Given the description of an element on the screen output the (x, y) to click on. 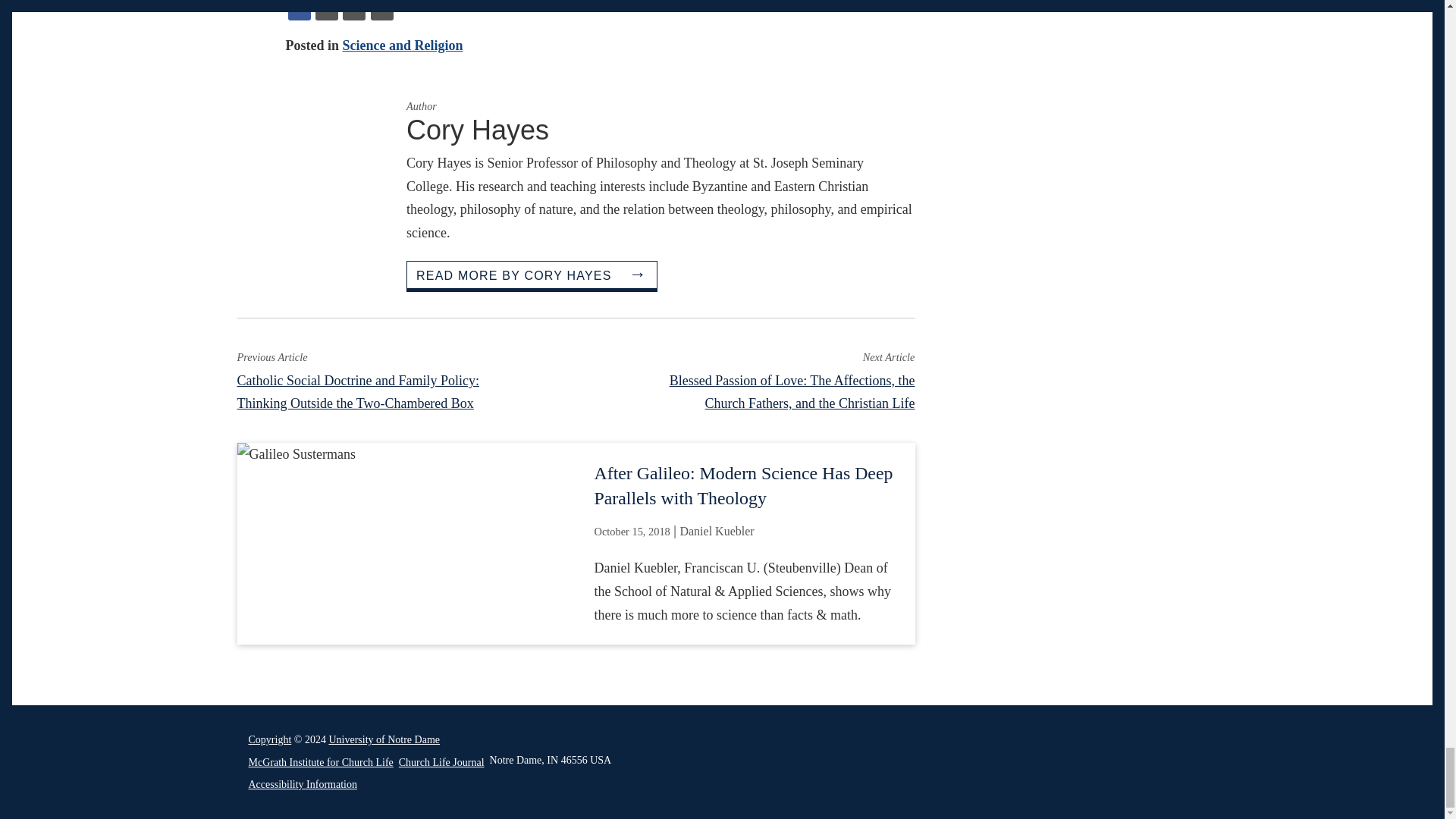
Facebook (299, 10)
Science and Religion (402, 45)
Print (382, 10)
READ MORE BY CORY HAYES (532, 275)
Indiana (552, 759)
Email (353, 10)
